Given the description of an element on the screen output the (x, y) to click on. 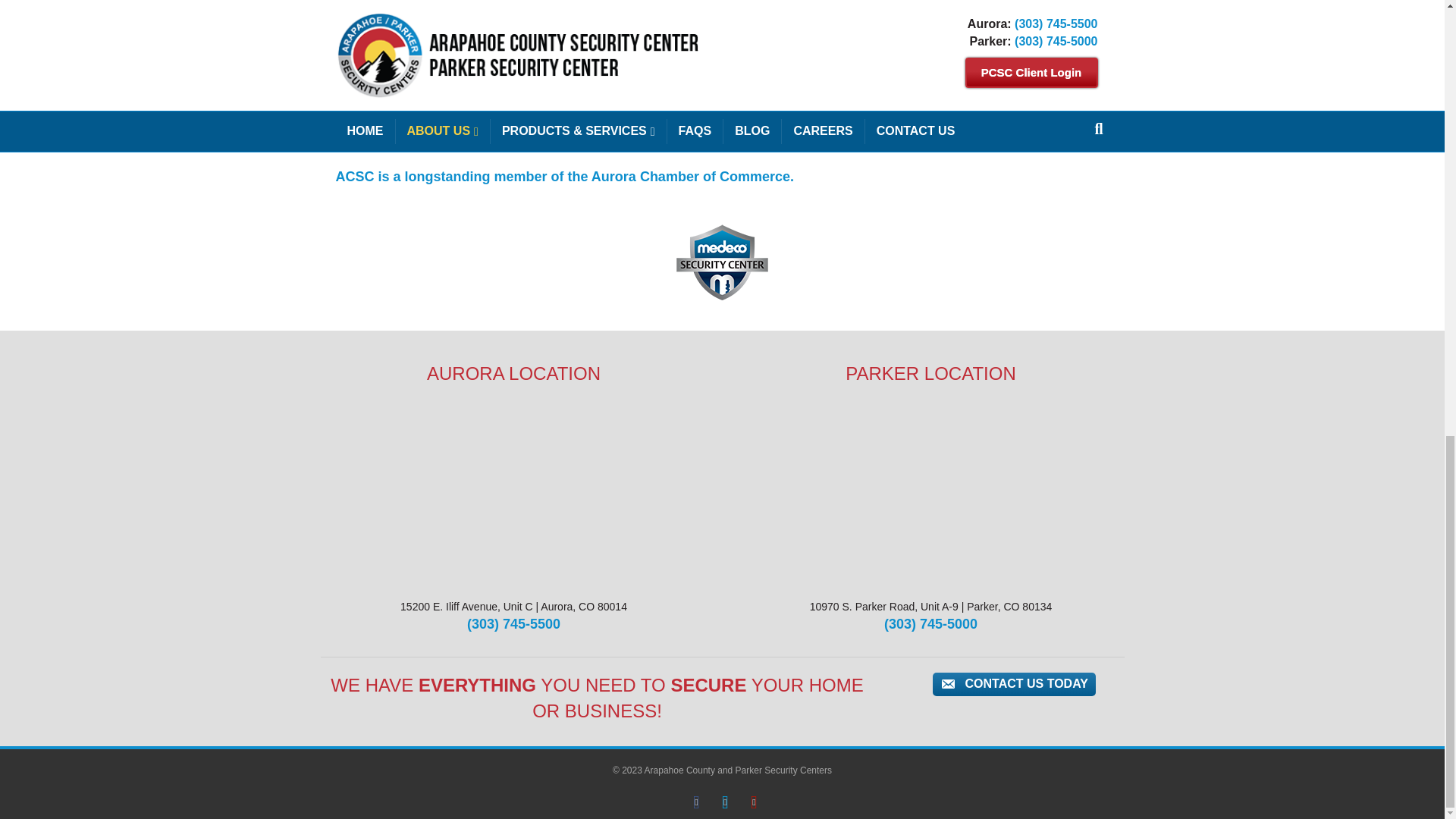
MSC (722, 262)
Twitter (725, 802)
Arapahoe County Security Center Lock Shop-3 (960, 70)
CONTACT US TODAY (1014, 684)
Yelp (753, 802)
Facebook (696, 802)
